Given the description of an element on the screen output the (x, y) to click on. 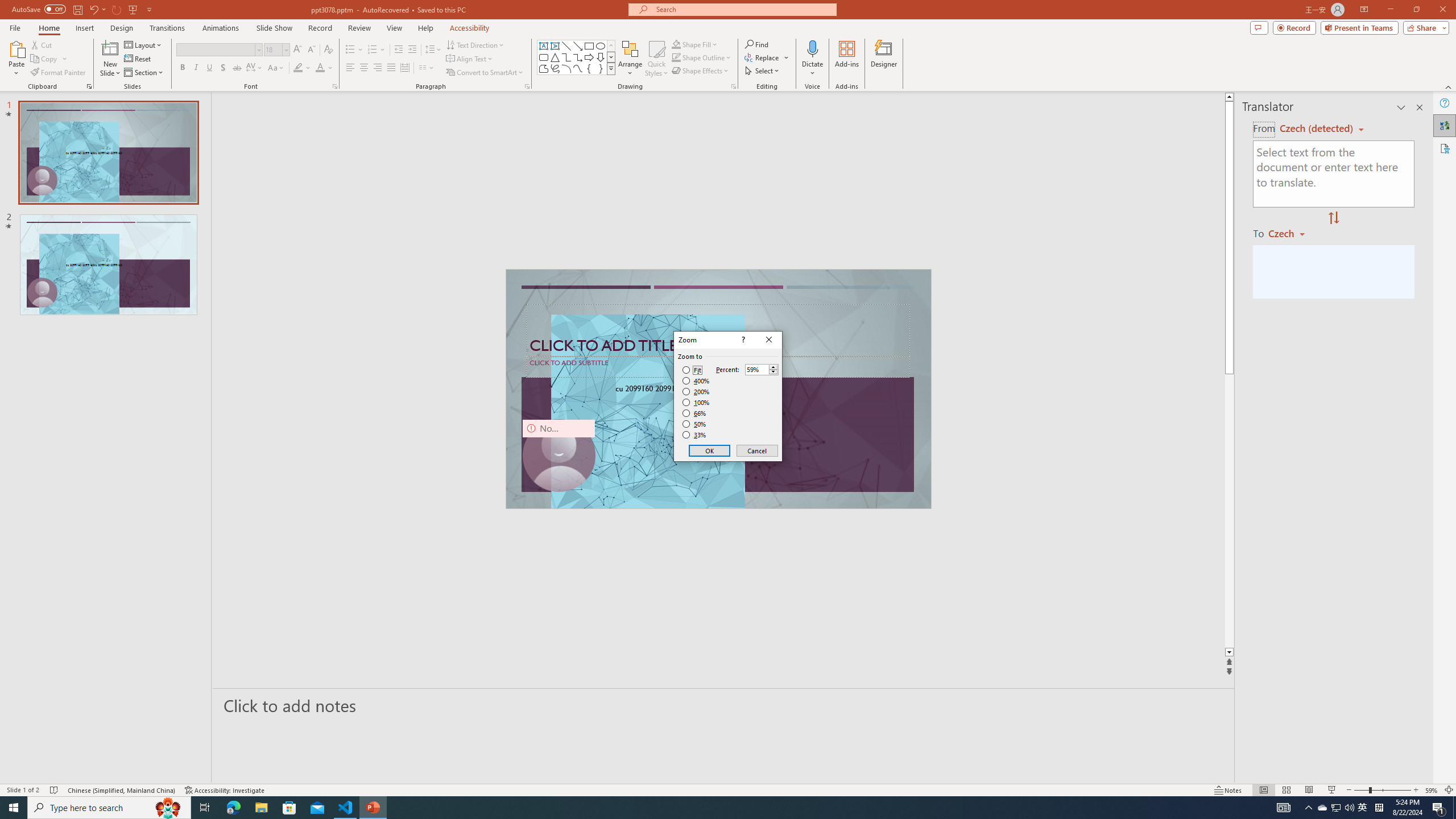
100% (696, 402)
Fit (691, 370)
